Given the description of an element on the screen output the (x, y) to click on. 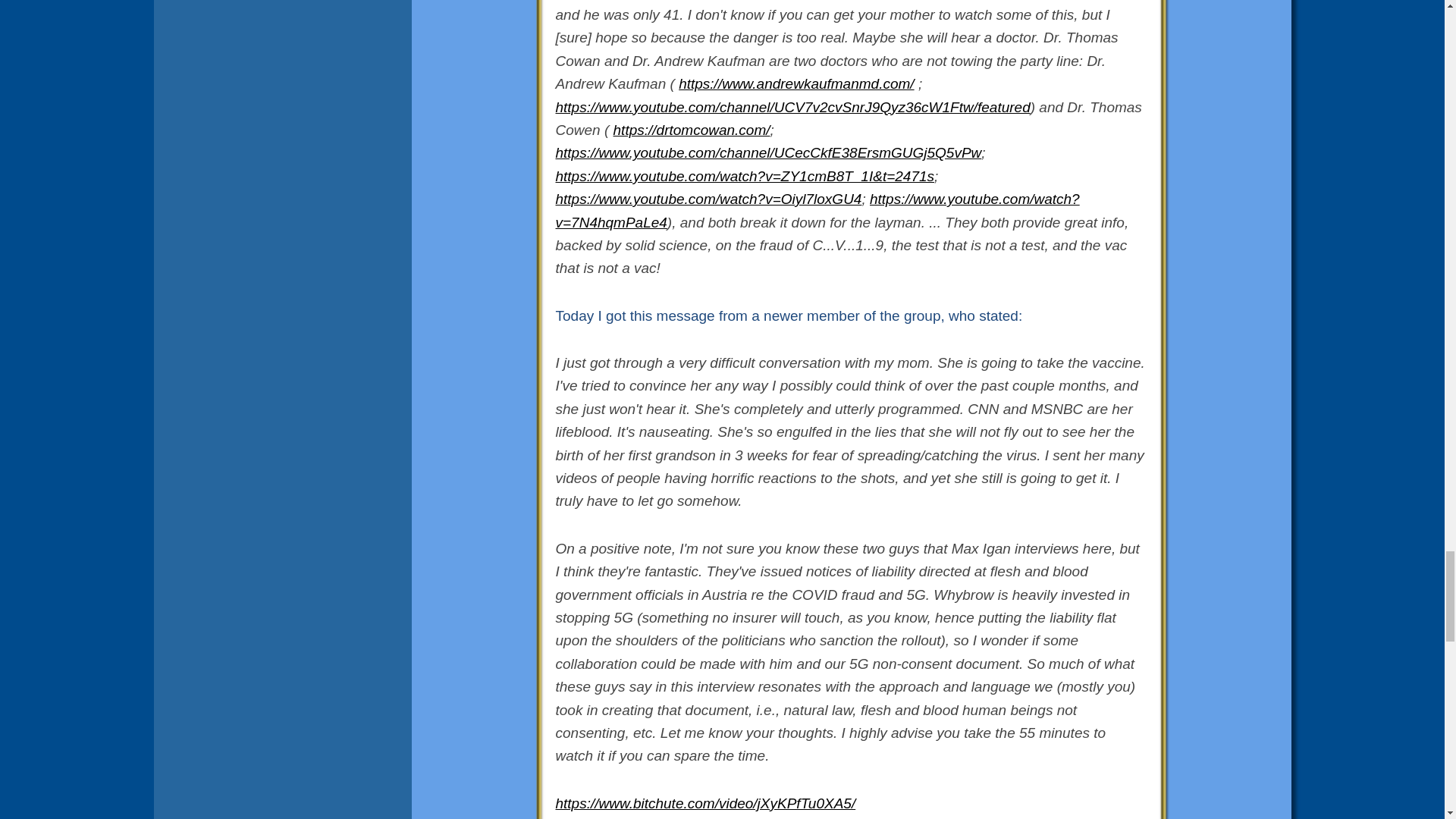
Today (574, 315)
